Given the description of an element on the screen output the (x, y) to click on. 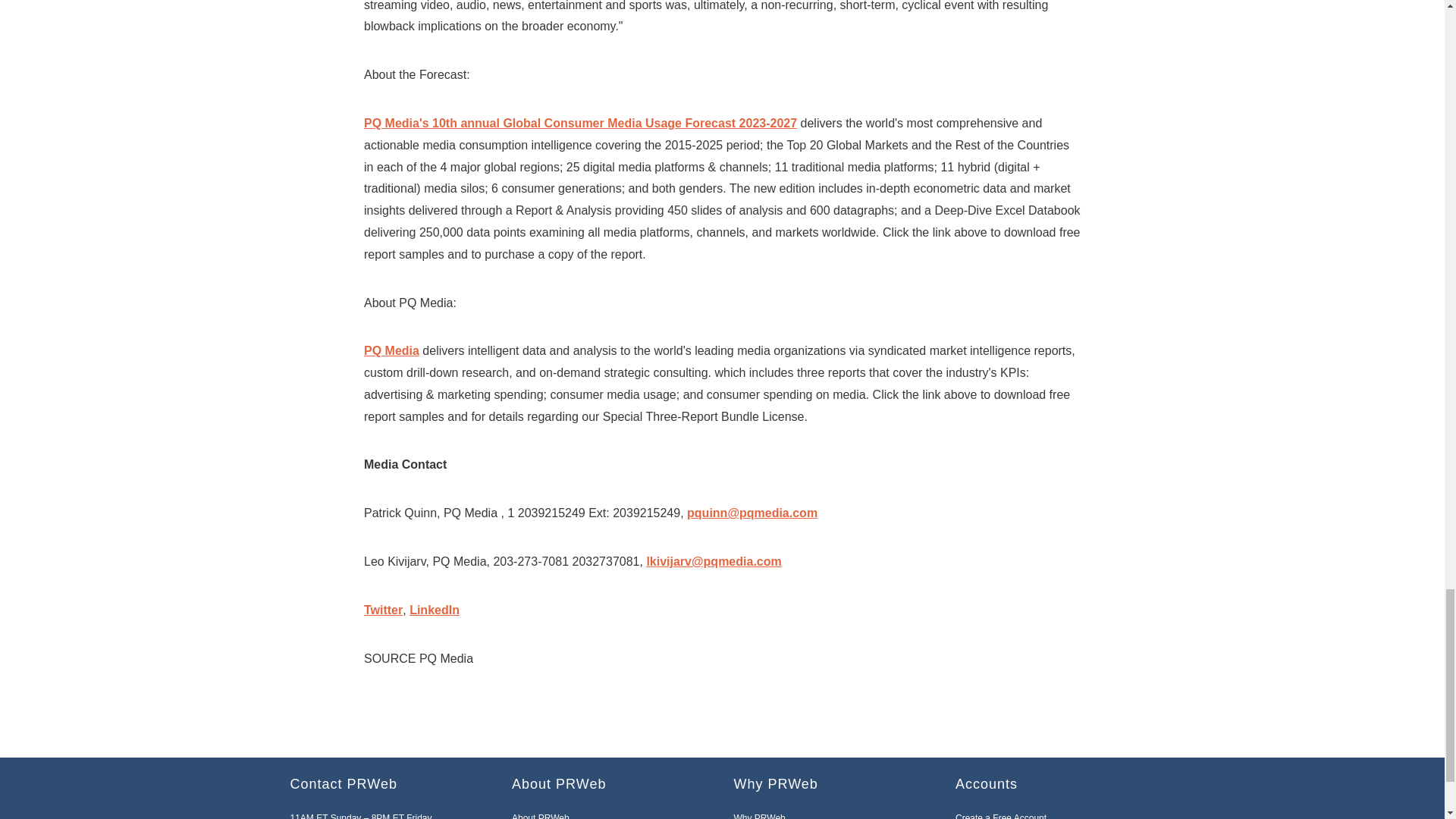
About PRWeb (540, 816)
Why PRWeb (759, 816)
